Given the description of an element on the screen output the (x, y) to click on. 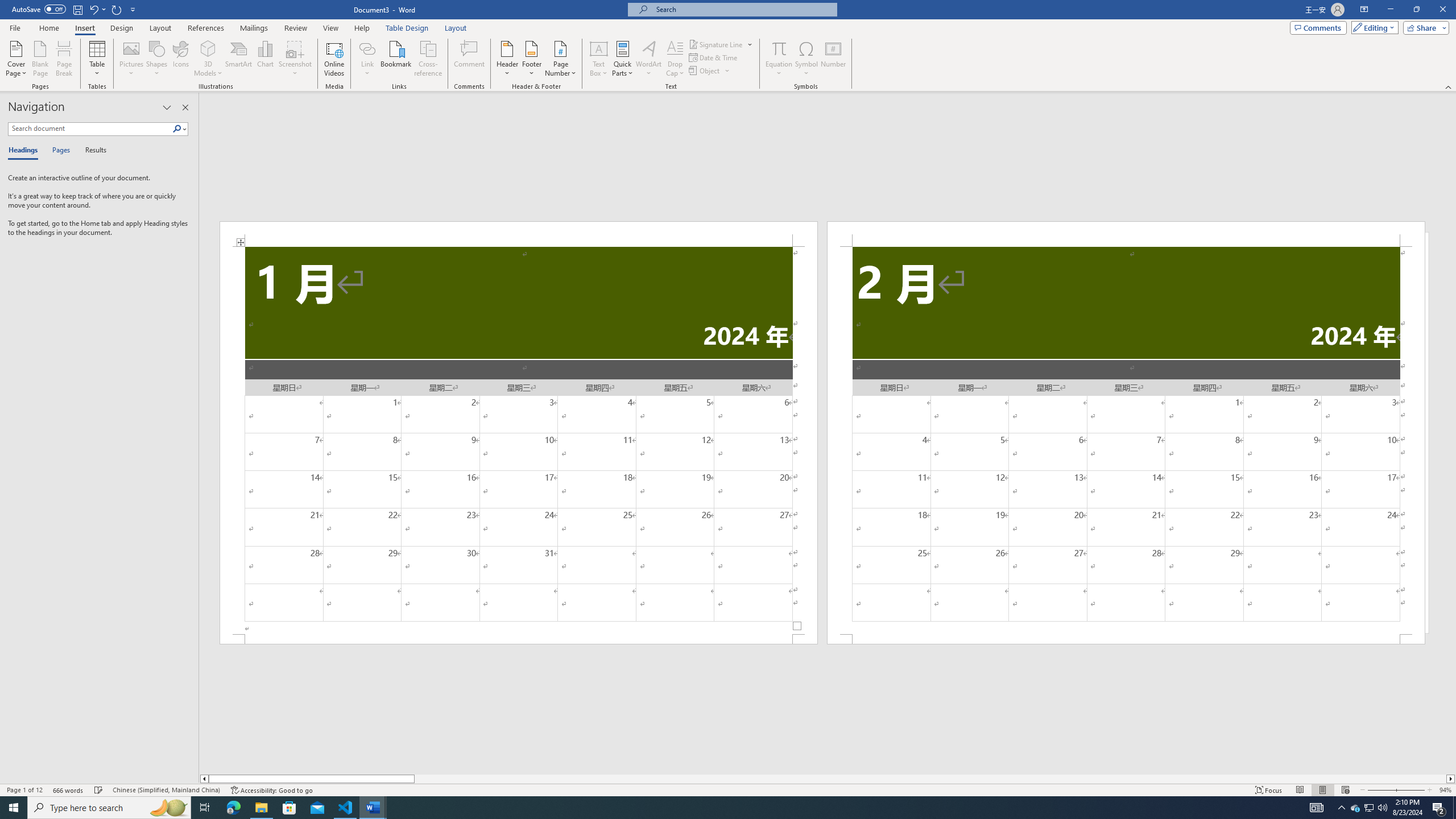
Close (1442, 9)
Insert (83, 28)
Footer -Section 2- (1126, 638)
WordArt (648, 58)
Page Break (63, 58)
Focus  (1268, 790)
Customize Quick Access Toolbar (133, 9)
Zoom In (1410, 790)
Object... (705, 69)
Page Number Page 1 of 12 (24, 790)
Close pane (185, 107)
Headings (25, 150)
Ribbon Display Options (1364, 9)
Shapes (156, 58)
Online Videos... (333, 58)
